Given the description of an element on the screen output the (x, y) to click on. 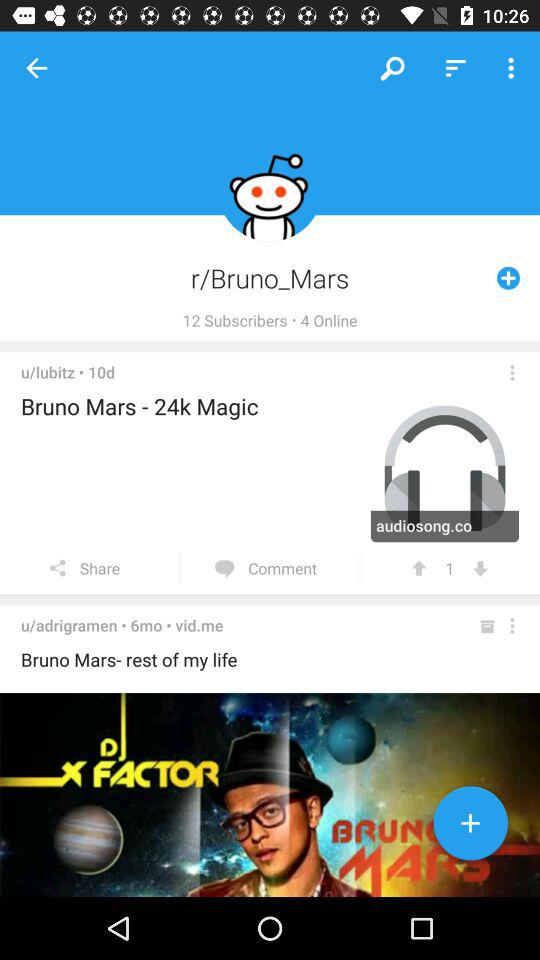
downvote post (480, 568)
